Given the description of an element on the screen output the (x, y) to click on. 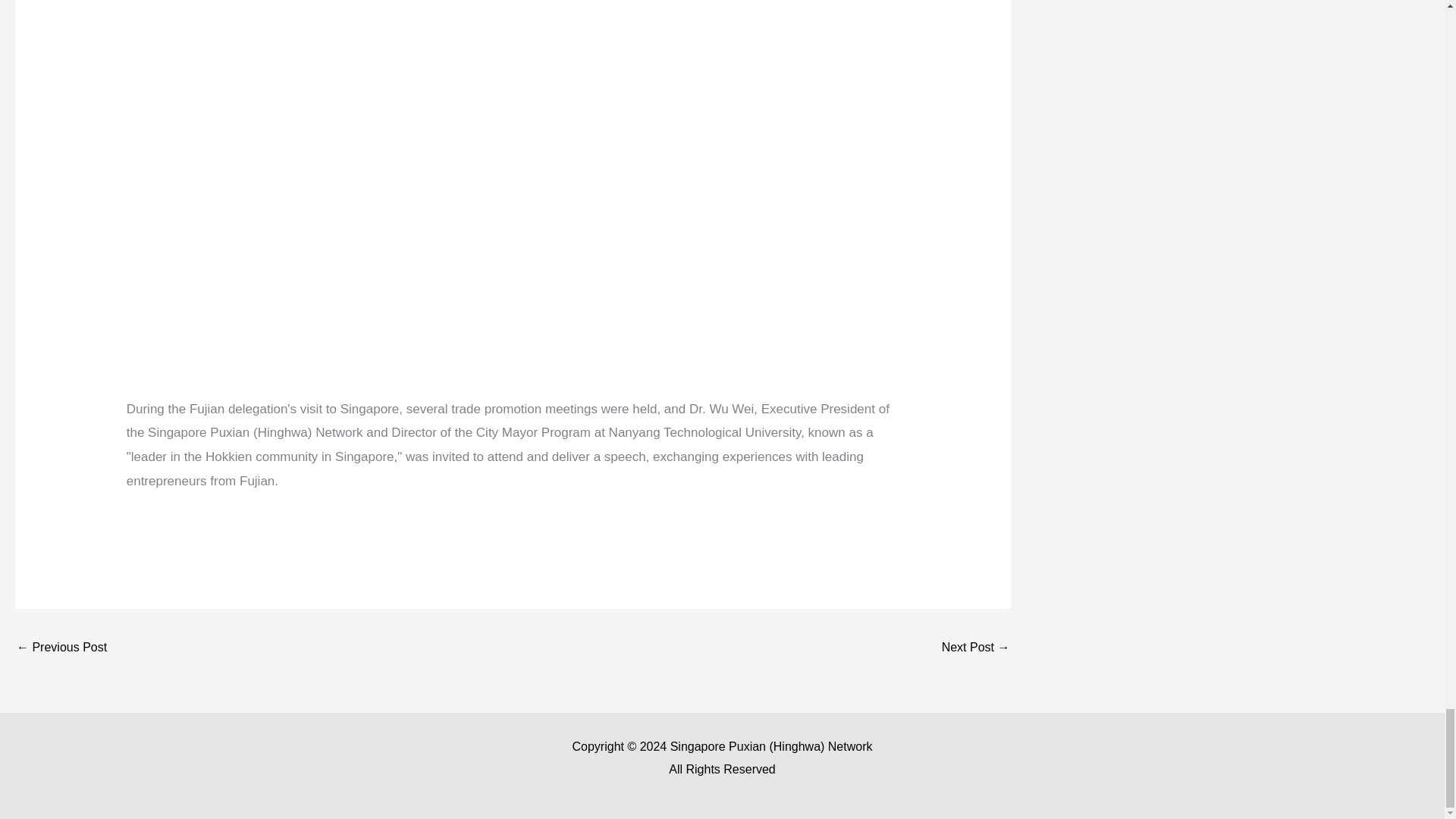
High-quality development business negotiation meeting (61, 648)
